Given the description of an element on the screen output the (x, y) to click on. 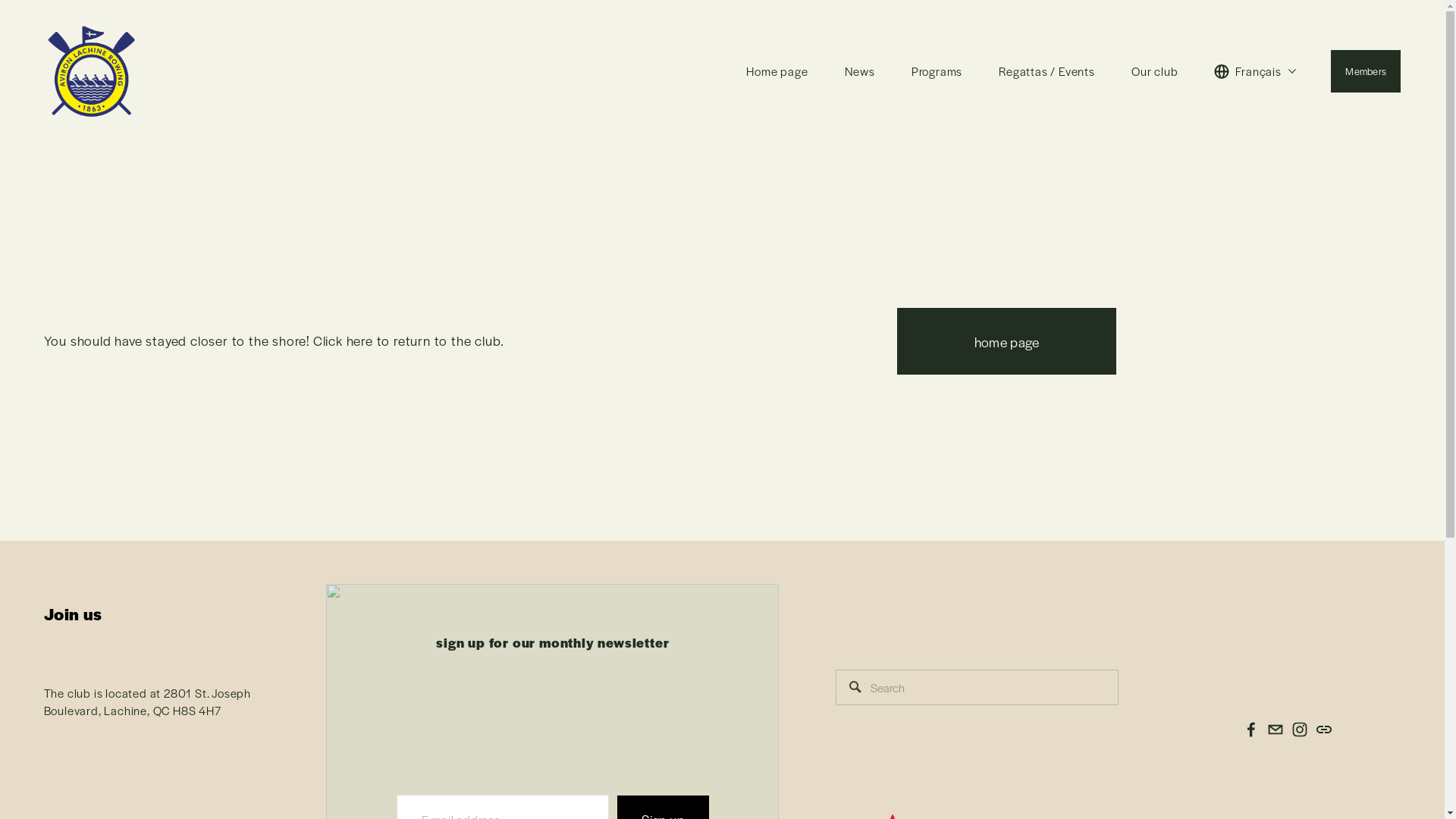
Our club Element type: text (1154, 71)
News Element type: text (859, 71)
home page Element type: text (1006, 341)
Members Element type: text (1365, 71)
Programs Element type: text (936, 71)
Regattas / Events Element type: text (1046, 71)
Home page Element type: text (776, 71)
